Given the description of an element on the screen output the (x, y) to click on. 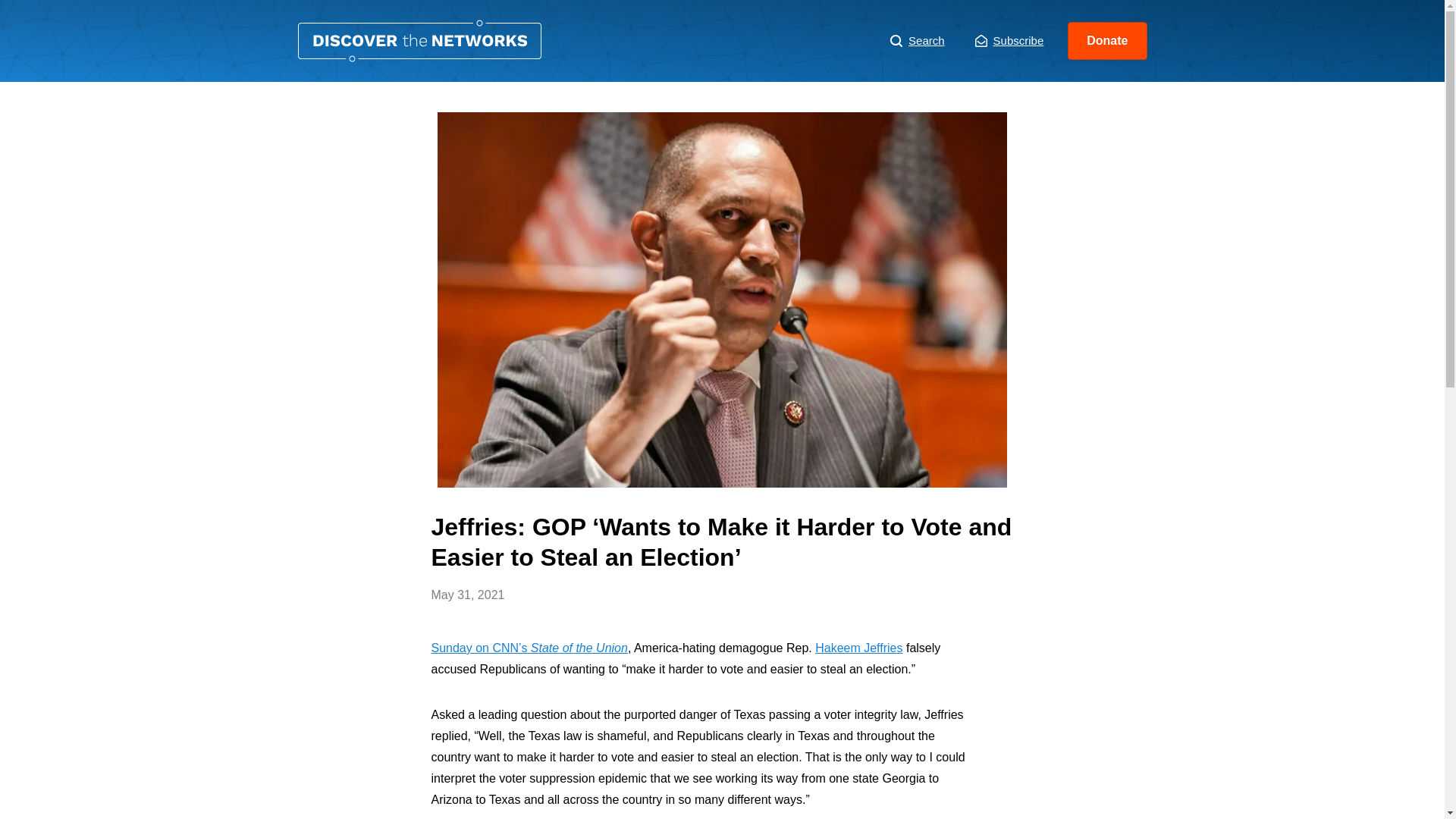
Donate (1107, 40)
Search (916, 40)
Subscribe (1009, 40)
Hakeem Jeffries (858, 647)
